Given the description of an element on the screen output the (x, y) to click on. 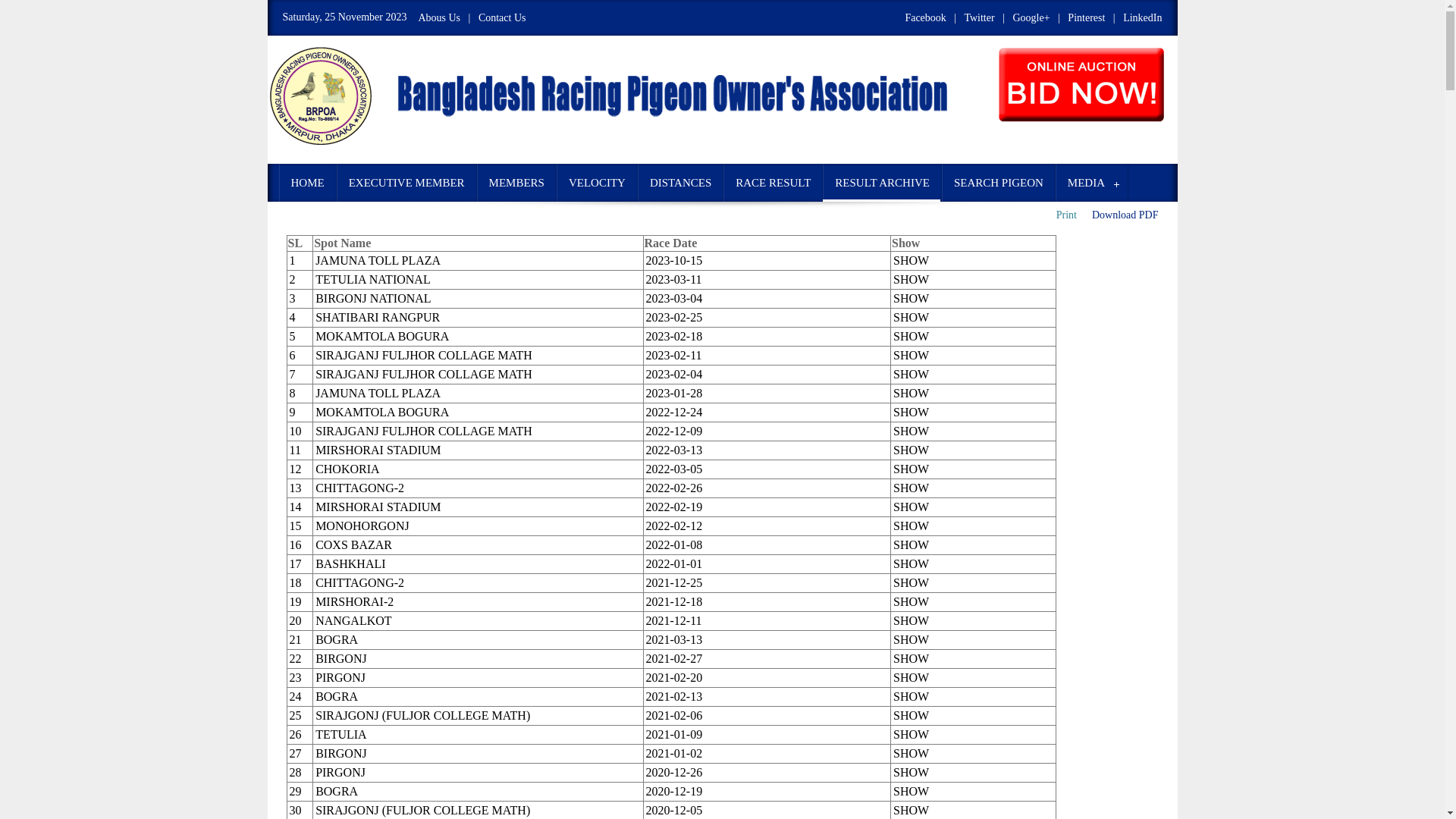
RACE RESULT Element type: text (773, 182)
SHOW Element type: text (910, 715)
SEARCH PIGEON Element type: text (998, 182)
VELOCITY Element type: text (597, 182)
SHOW Element type: text (910, 677)
Twitter Element type: text (978, 17)
SHOW Element type: text (910, 563)
SHOW Element type: text (910, 392)
SHOW Element type: text (910, 752)
SHOW Element type: text (910, 639)
SHOW Element type: text (910, 696)
SHOW Element type: text (910, 734)
SHOW Element type: text (910, 430)
SHOW Element type: text (910, 506)
Contact Us Element type: text (502, 17)
Download PDF Element type: text (1125, 214)
SHOW Element type: text (910, 544)
SHOW Element type: text (910, 373)
SHOW Element type: text (910, 411)
DISTANCES Element type: text (680, 182)
SHOW Element type: text (910, 279)
MEDIA Element type: text (1091, 182)
HOME Element type: text (307, 182)
SHOW Element type: text (910, 449)
EXECUTIVE MEMBER Element type: text (406, 182)
SHOW Element type: text (910, 260)
MEMBERS Element type: text (516, 182)
SHOW Element type: text (910, 297)
SHOW Element type: text (910, 582)
SHOW Element type: text (910, 525)
SHOW Element type: text (910, 809)
SHOW Element type: text (910, 354)
SHOW Element type: text (910, 335)
SHOW Element type: text (910, 771)
SHOW Element type: text (910, 316)
SHOW Element type: text (910, 487)
SHOW Element type: text (910, 601)
SHOW Element type: text (910, 620)
SHOW Element type: text (910, 790)
Google+ Element type: text (1030, 17)
Facebook Element type: text (924, 17)
SHOW Element type: text (910, 658)
SHOW Element type: text (910, 468)
LinkedIn Element type: text (1142, 17)
Abous Us Element type: text (439, 17)
Print Element type: text (1066, 214)
RESULT ARCHIVE Element type: text (882, 182)
Pinterest Element type: text (1085, 17)
